Given the description of an element on the screen output the (x, y) to click on. 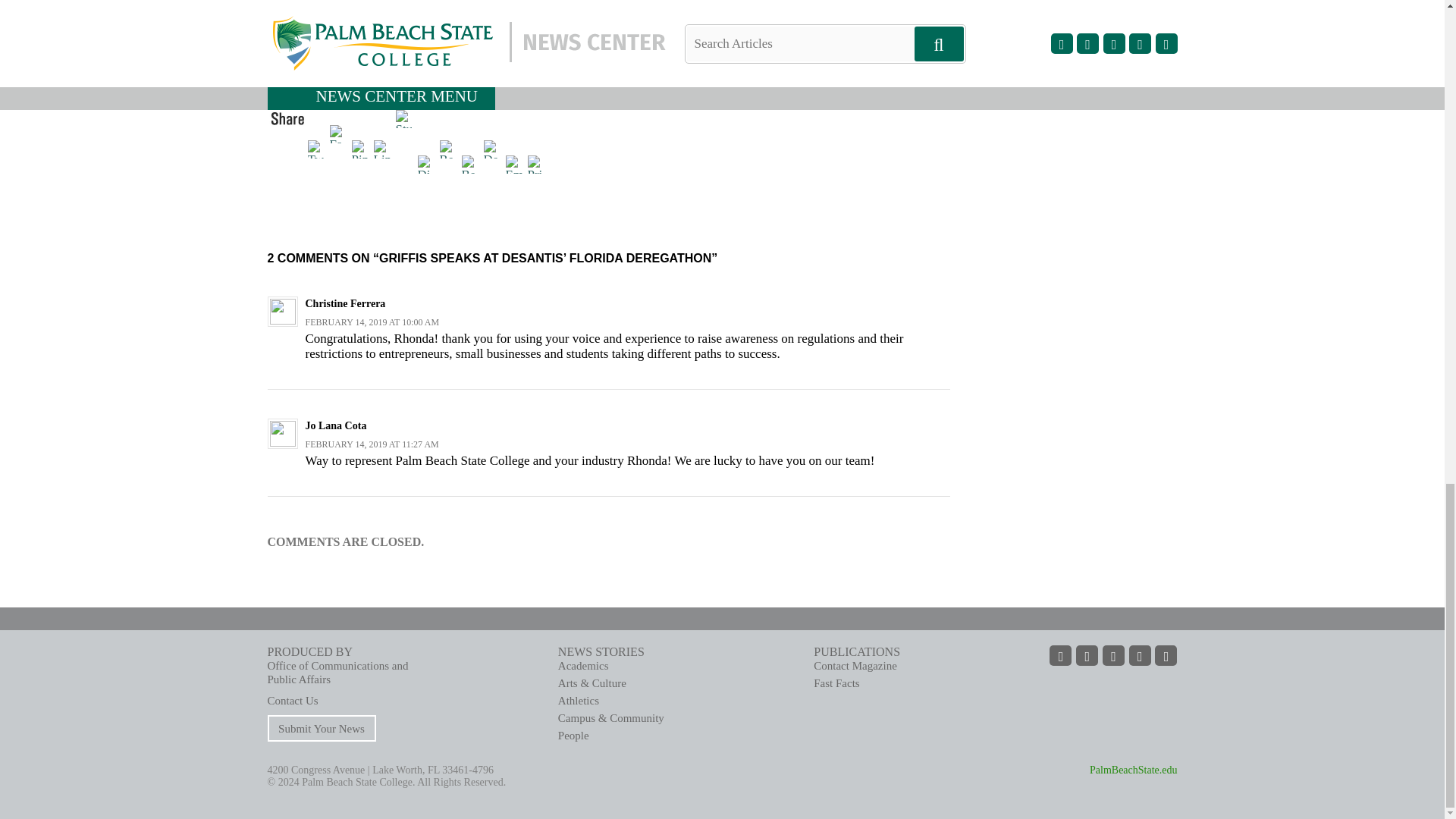
Pinterest (363, 147)
Linkedin (383, 147)
Part 2 (279, 78)
Reddit (450, 147)
Bebo (472, 162)
Email (516, 162)
Twitter (318, 147)
Delicious (494, 147)
FEBRUARY 14, 2019 AT 10:00 AM (371, 321)
Part 1 (279, 34)
